Given the description of an element on the screen output the (x, y) to click on. 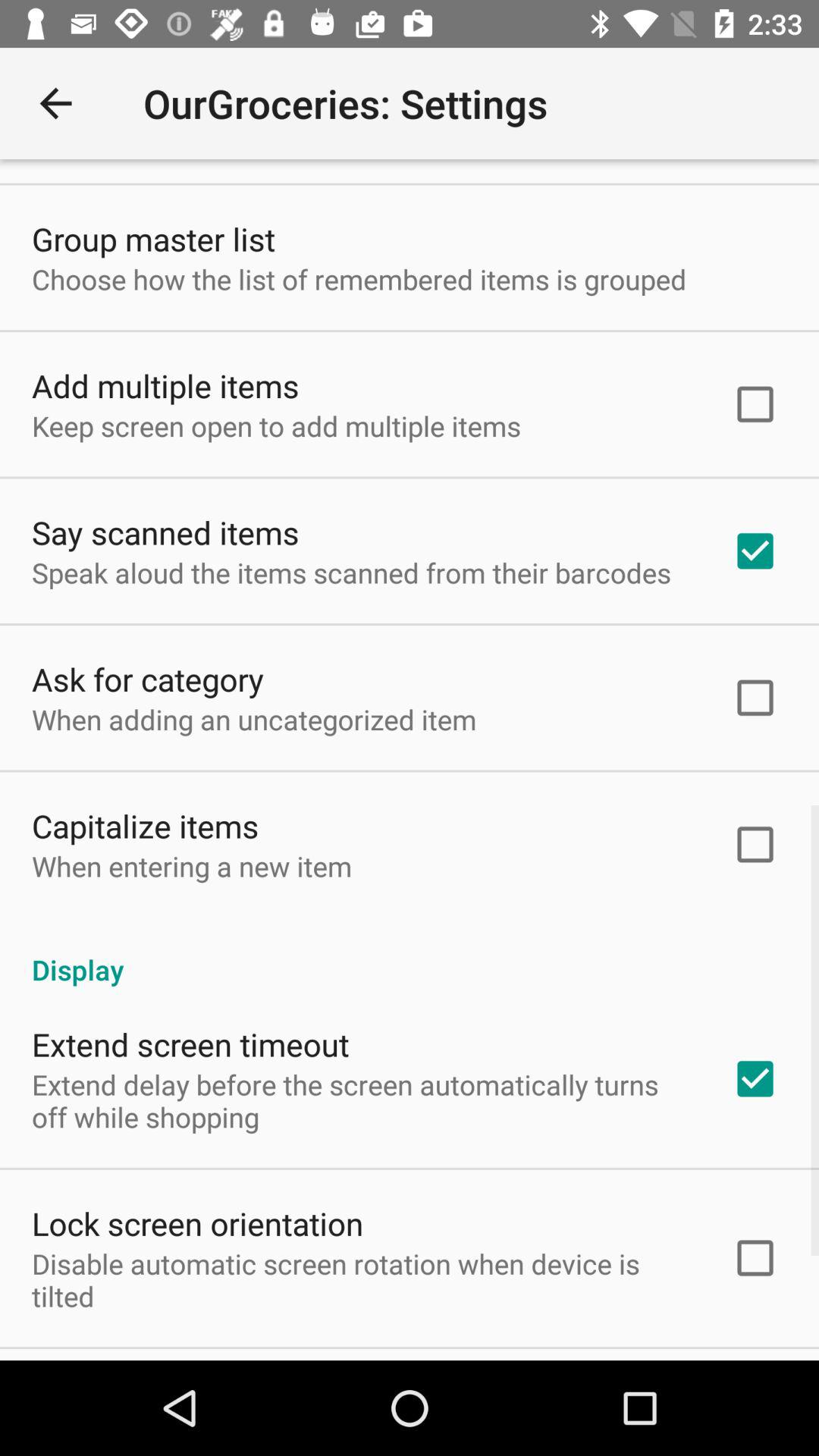
open the item above the when entering a icon (144, 825)
